Given the description of an element on the screen output the (x, y) to click on. 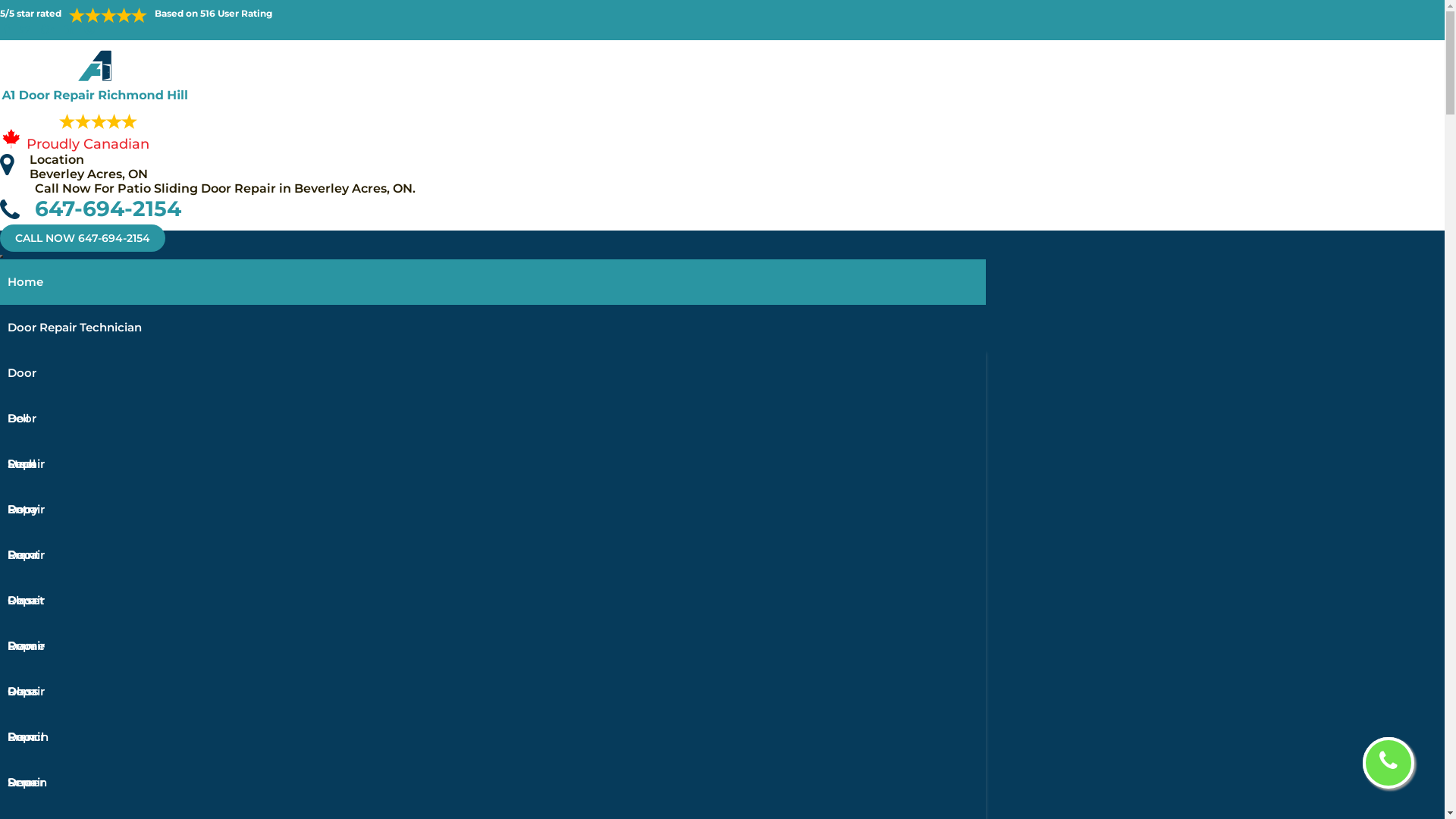
Steel Door Repair Element type: text (26, 463)
French Door Repair Element type: text (28, 736)
Door Repair Technician Element type: text (492, 327)
Closet Door Repair Element type: text (26, 600)
647-694-2154 Element type: text (107, 208)
Home Element type: text (492, 281)
Frame Door Repair Element type: text (26, 645)
Door Bell Repair Element type: text (26, 372)
Front Door Repair Element type: text (26, 554)
Entry Door Repair Element type: text (26, 509)
Door Lock Repair Element type: text (26, 418)
CALL NOW 647-694-2154 Element type: text (82, 237)
Glass Door Repair Element type: text (26, 691)
Screen Door Repair Element type: text (27, 782)
